Given the description of an element on the screen output the (x, y) to click on. 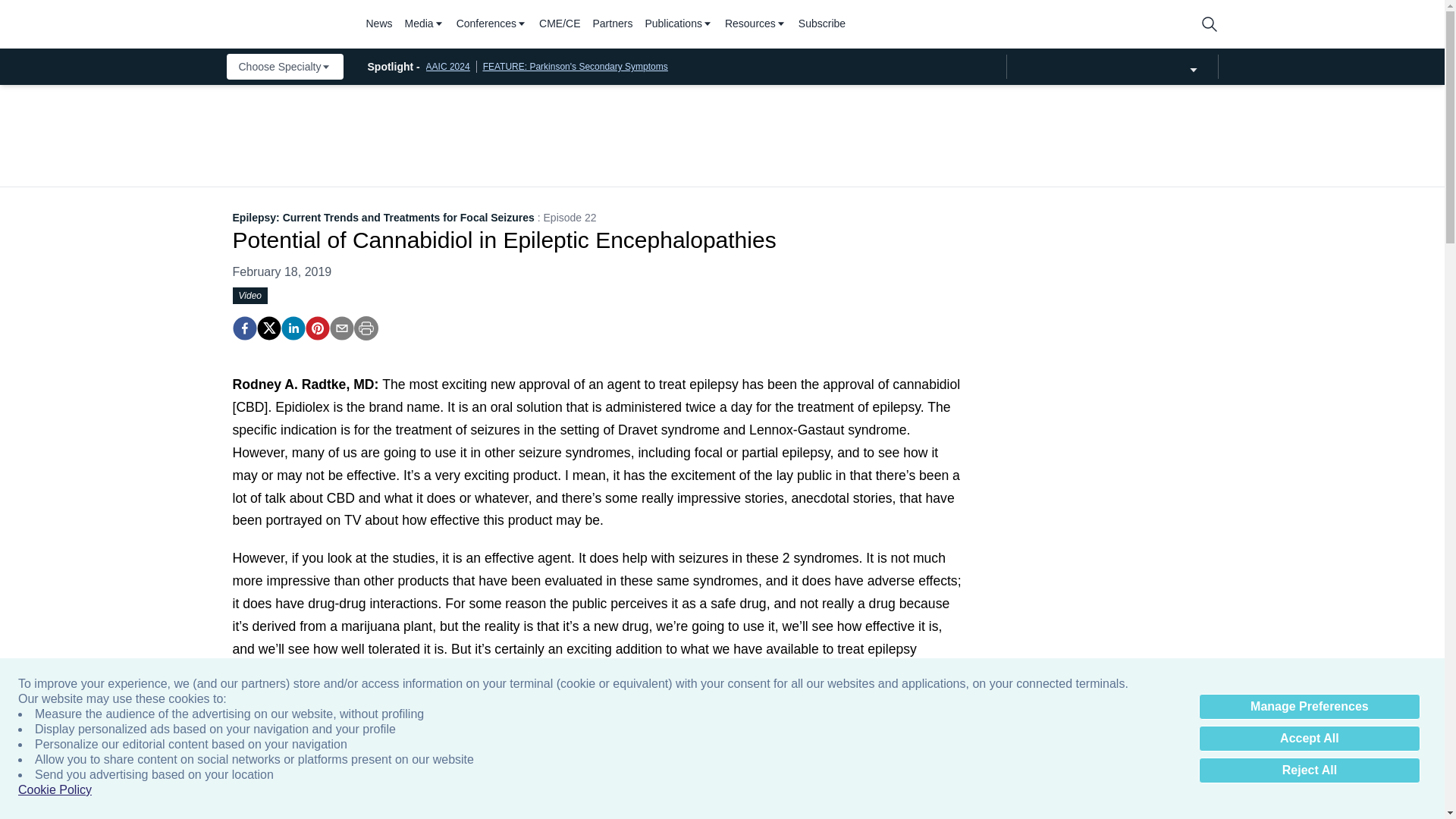
News (378, 23)
Accept All (1309, 738)
Cookie Policy (54, 789)
Manage Preferences (1309, 706)
Resources (755, 23)
Partners (612, 23)
Potential of Cannabidiol in Epileptic Encephalopathies (316, 328)
Potential of Cannabidiol in Epileptic Encephalopathies (243, 328)
Publications (679, 23)
Media (424, 23)
Conferences (492, 23)
Reject All (1309, 769)
